Given the description of an element on the screen output the (x, y) to click on. 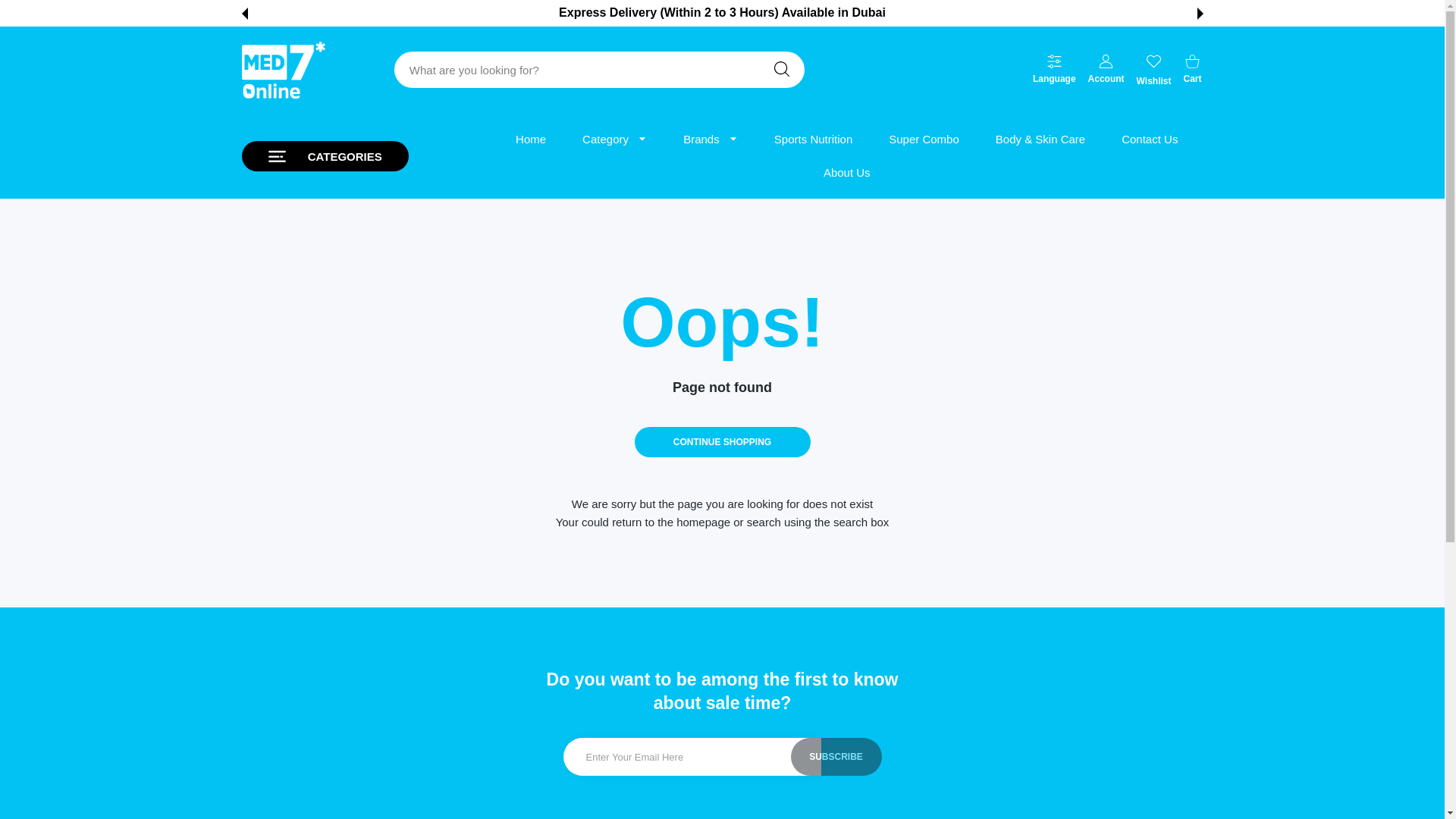
CATEGORIES (324, 155)
Med7 Online (1154, 69)
